Given the description of an element on the screen output the (x, y) to click on. 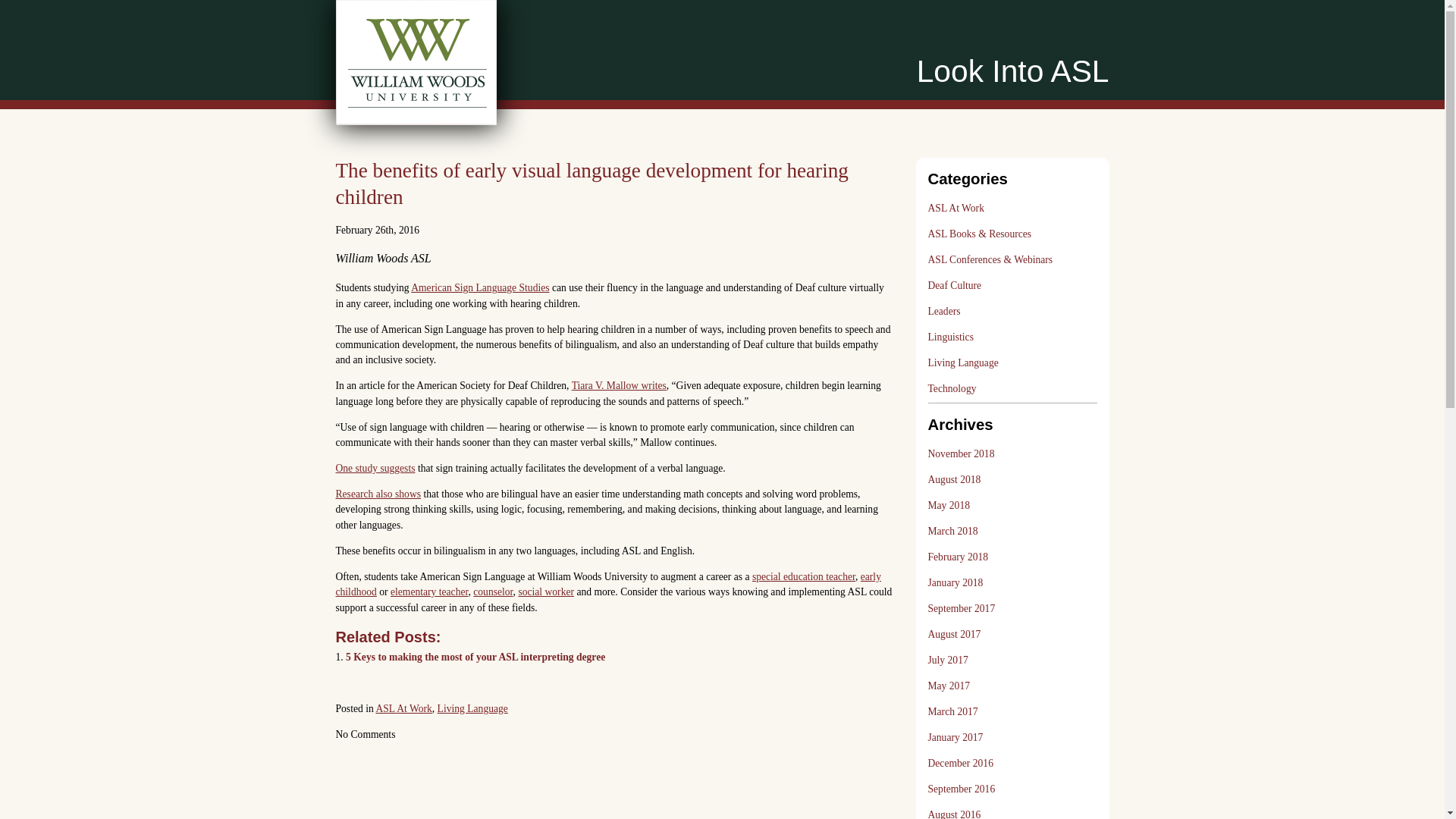
Living Language (963, 363)
Living Language (473, 708)
August 2016 (954, 810)
Tiara V. Mallow writes (619, 385)
January 2018 (956, 583)
Leaders (944, 312)
special education teacher (804, 576)
ASL At Work (956, 208)
December 2016 (960, 763)
One study suggests (374, 468)
5 Keys to making the most of your ASL interpreting degree (475, 656)
Research also shows (377, 493)
Look Into ASL (1013, 71)
August 2018 (954, 479)
